Given the description of an element on the screen output the (x, y) to click on. 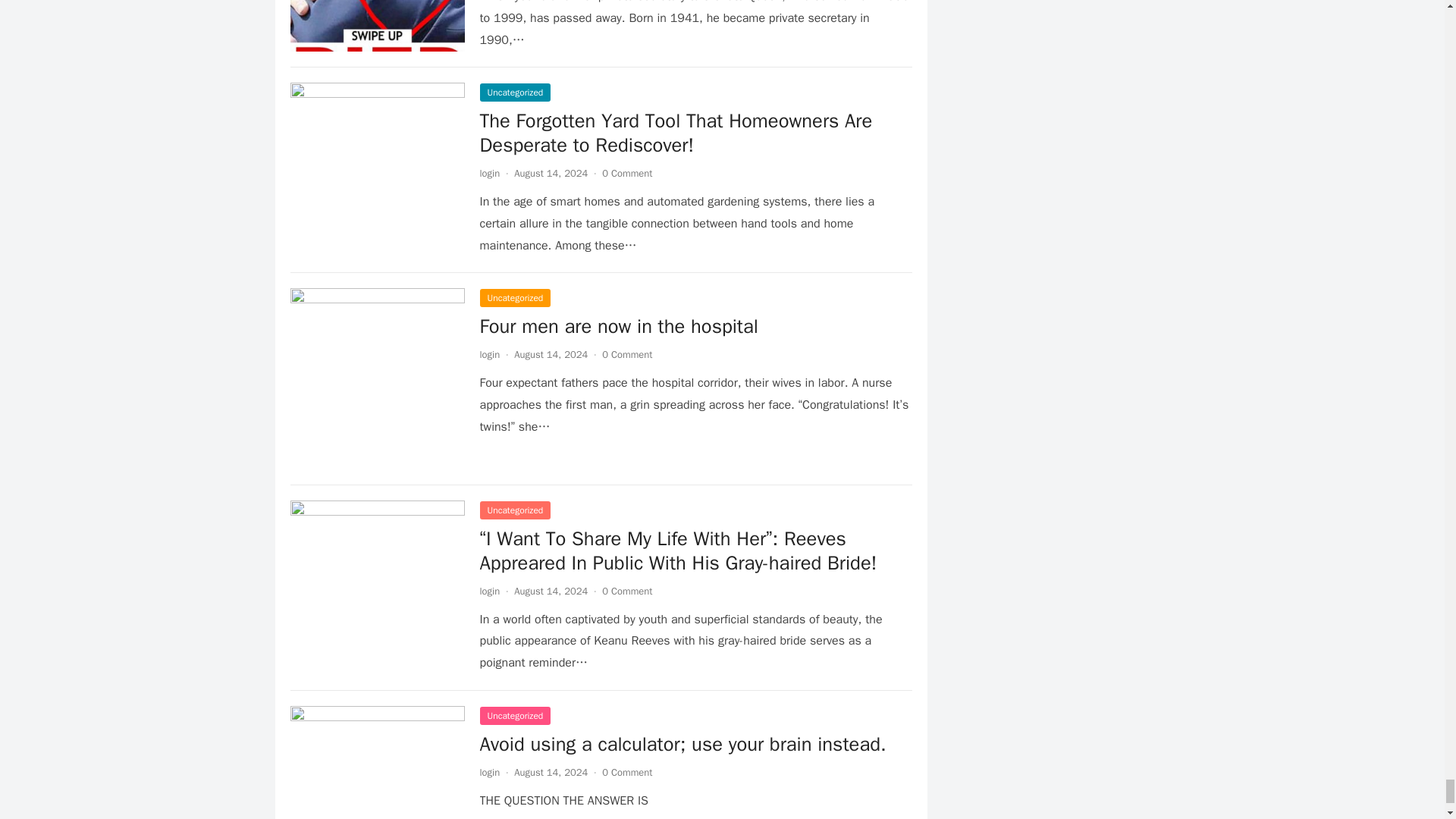
Posts by login (489, 173)
0 Comment (627, 173)
login (489, 173)
0 Comment (627, 354)
Posts by login (489, 590)
Posts by login (489, 771)
Uncategorized (514, 92)
Four men are now in the hospital (618, 326)
Posts by login (489, 354)
login (489, 354)
